Given the description of an element on the screen output the (x, y) to click on. 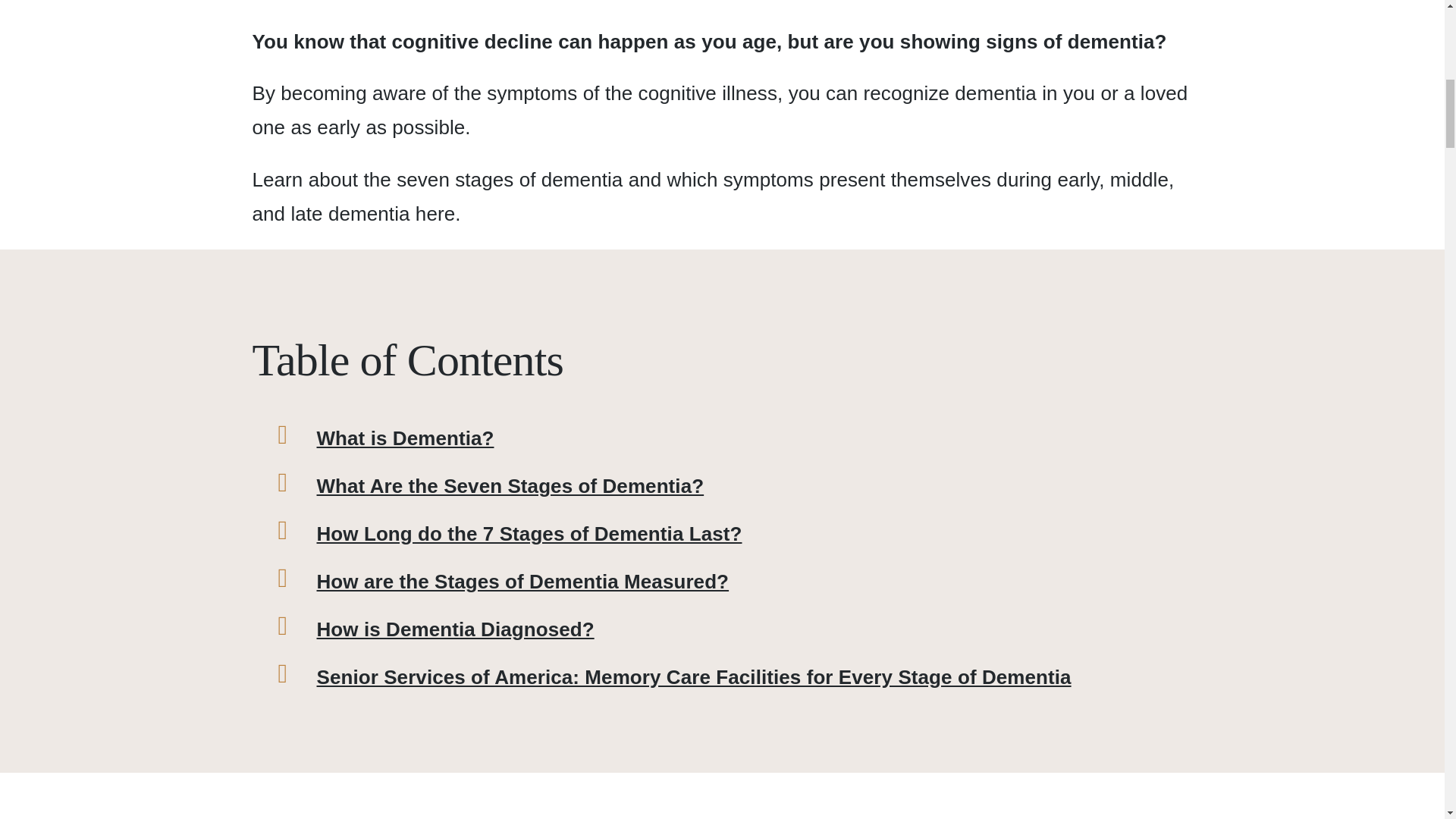
What Are the Seven Stages of Dementia? (754, 486)
How Long do the 7 Stages of Dementia Last? (754, 533)
How are the Stages of Dementia Measured? (754, 581)
What is Dementia? (754, 438)
How is Dementia Diagnosed? (754, 629)
